Given the description of an element on the screen output the (x, y) to click on. 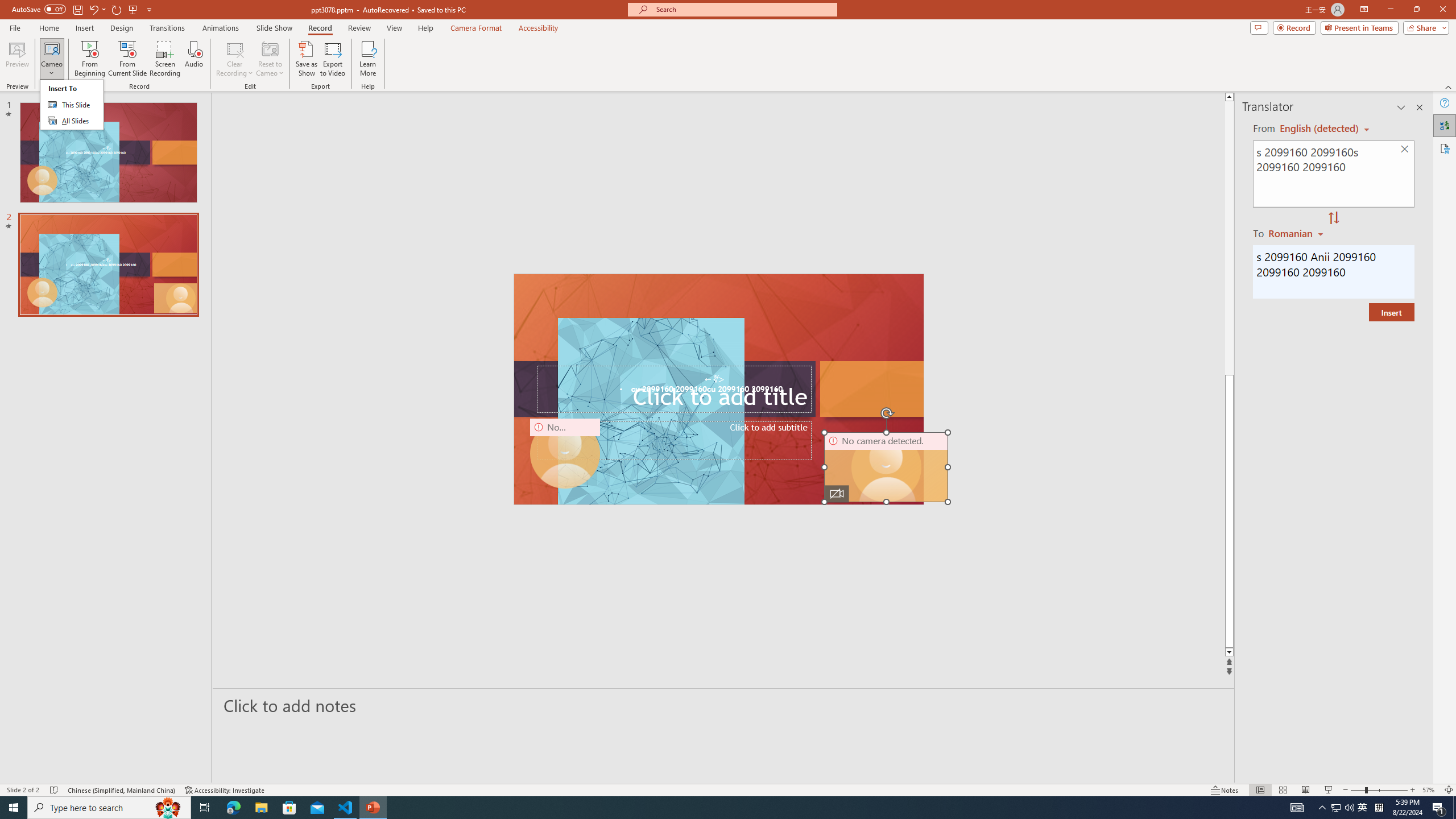
Czech (detected) (1319, 128)
Microsoft Edge (233, 807)
Swap "from" and "to" languages. (1333, 218)
